Given the description of an element on the screen output the (x, y) to click on. 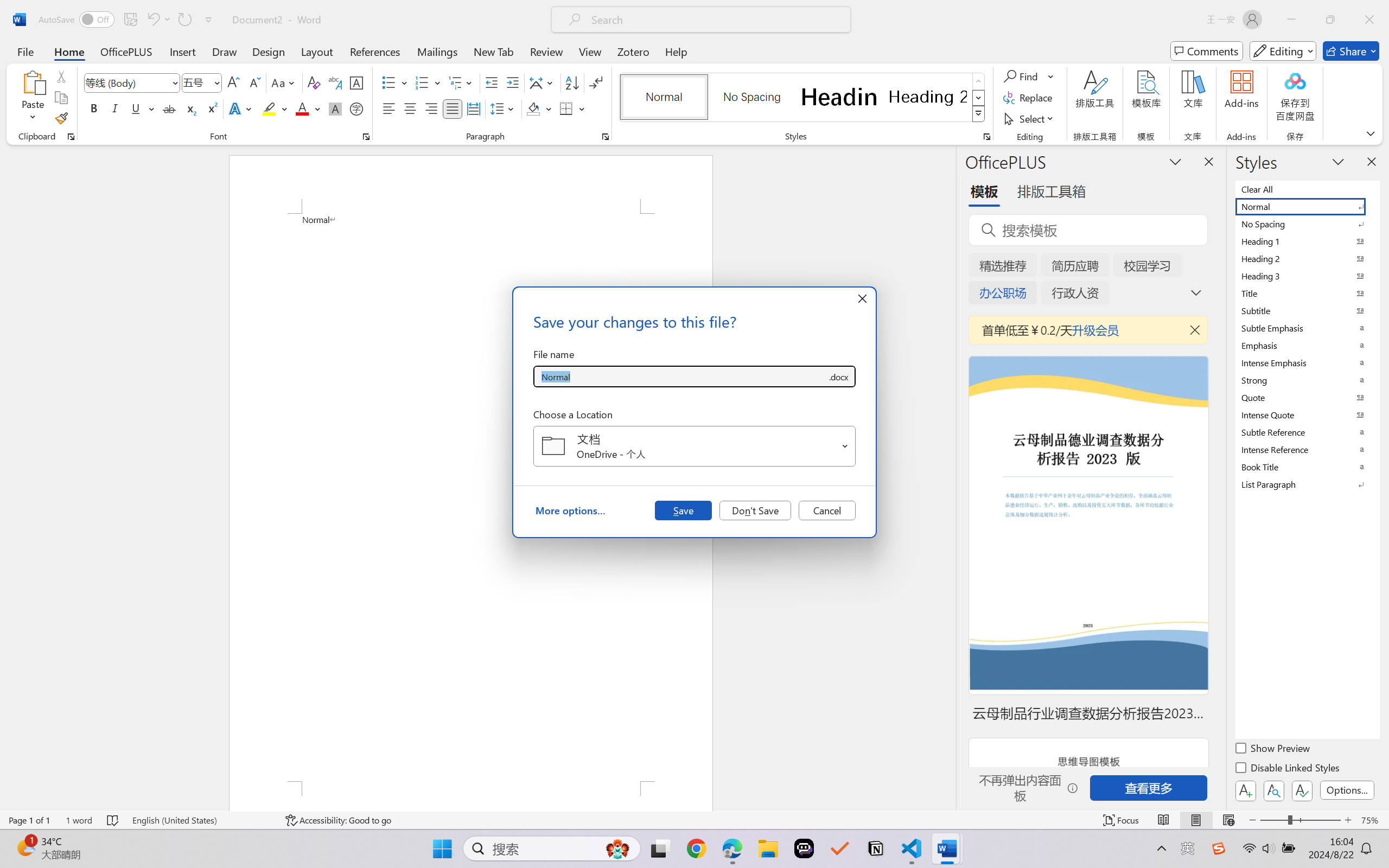
Print Layout (1196, 819)
Web Layout (1228, 819)
Minimize (1291, 19)
AutomationID: BadgeAnchorLargeTicker (24, 847)
Heading 3 (1306, 275)
No Spacing (1306, 223)
Borders (571, 108)
Font... (365, 136)
Text Effects and Typography (241, 108)
Ribbon Display Options (1370, 132)
Select (1030, 118)
Numbering (421, 82)
Line and Paragraph Spacing (503, 108)
